Given the description of an element on the screen output the (x, y) to click on. 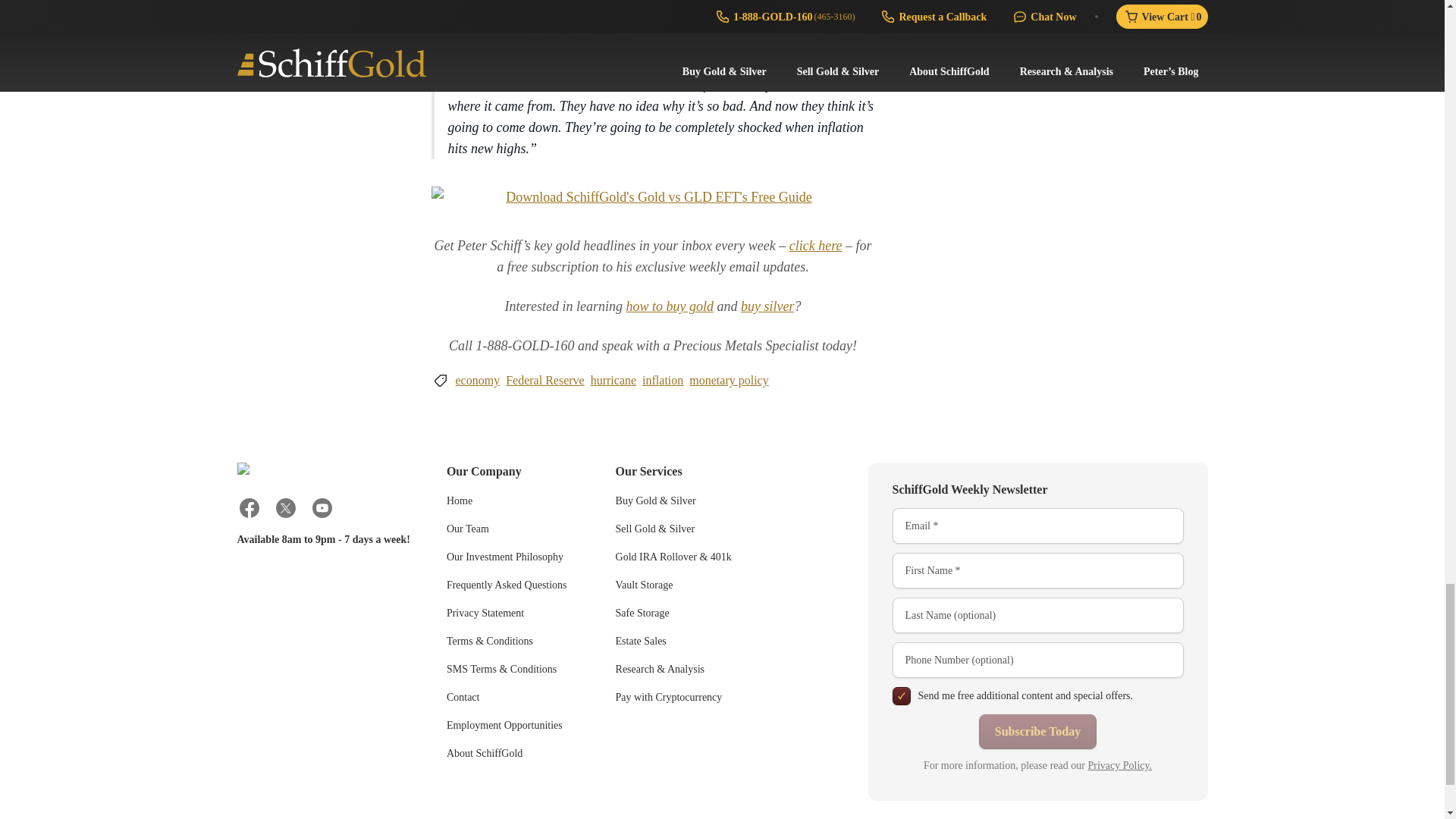
hurricane (613, 380)
Federal Reserve (545, 380)
click here (816, 245)
economy (476, 380)
how to buy gold (669, 305)
buy silver (767, 305)
